Given the description of an element on the screen output the (x, y) to click on. 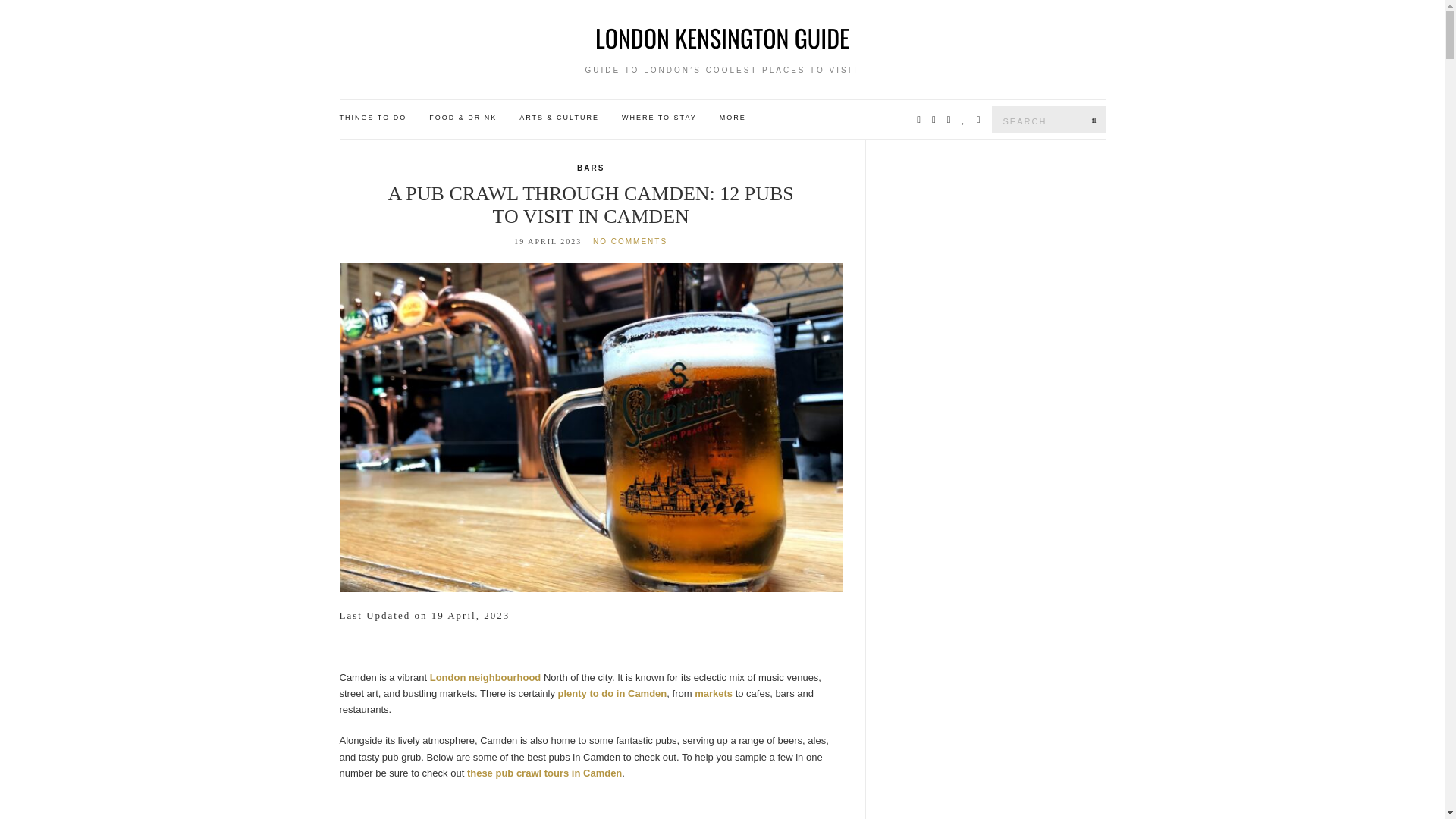
WHERE TO STAY (659, 117)
THINGS TO DO (373, 117)
